Given the description of an element on the screen output the (x, y) to click on. 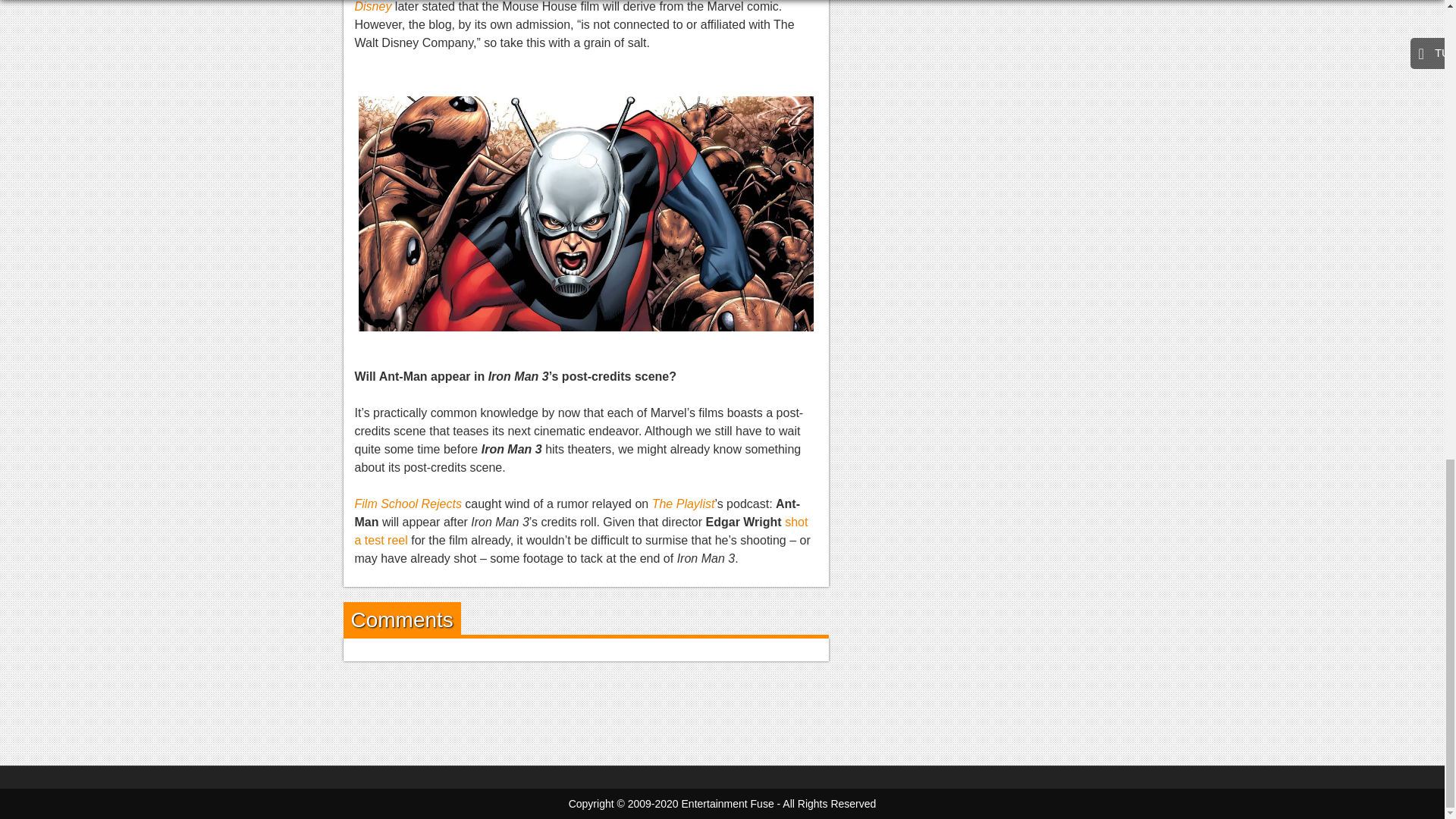
Advertisement (721, 710)
